Given the description of an element on the screen output the (x, y) to click on. 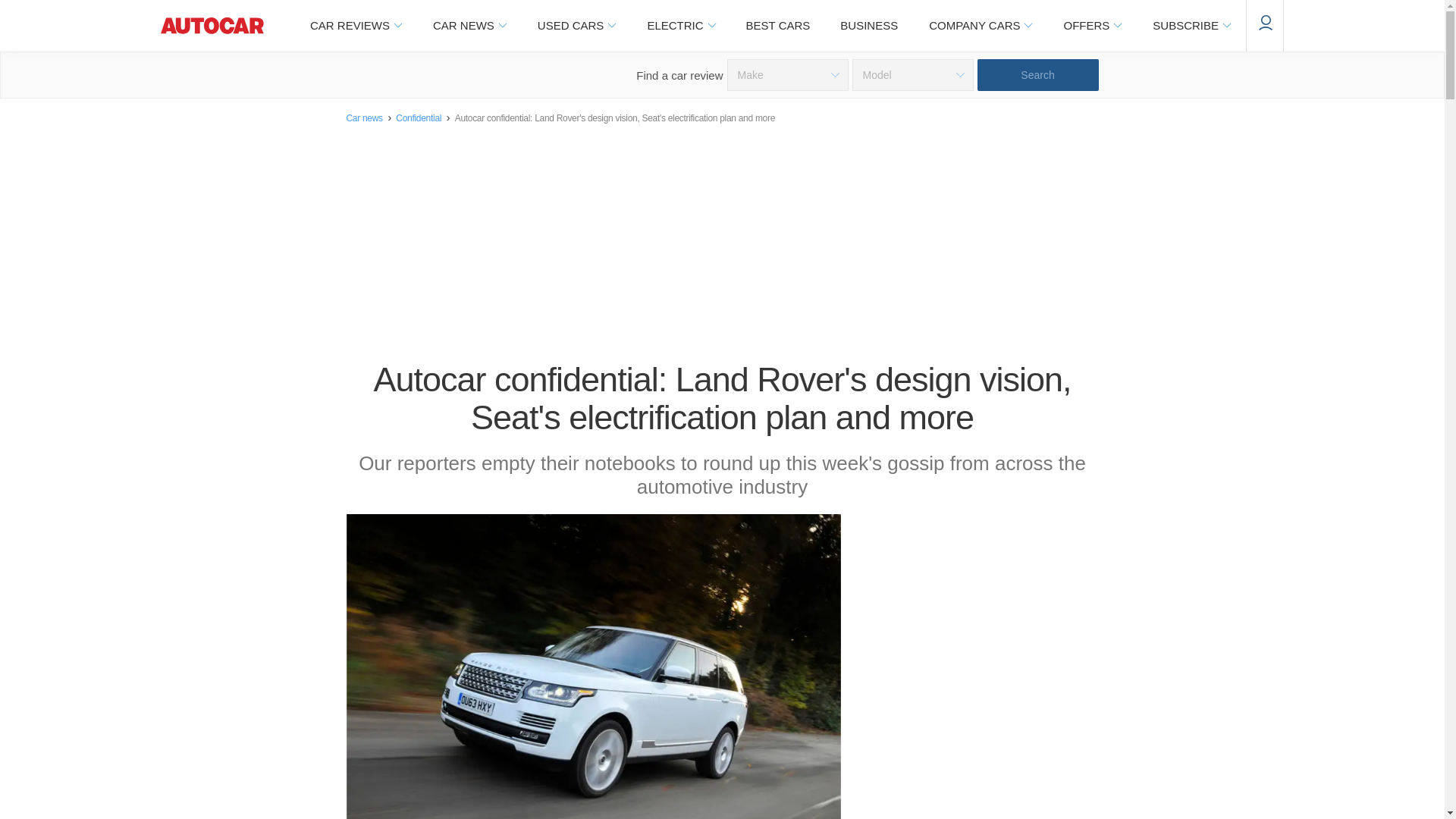
ELECTRIC (680, 26)
Search (1036, 74)
CAR NEWS (468, 26)
USED CARS (576, 26)
BUSINESS (868, 26)
Autocar Business news, insight and opinion (868, 26)
BEST CARS (777, 26)
Home (211, 25)
SUBSCRIBE (1191, 26)
Search (1036, 74)
